Given the description of an element on the screen output the (x, y) to click on. 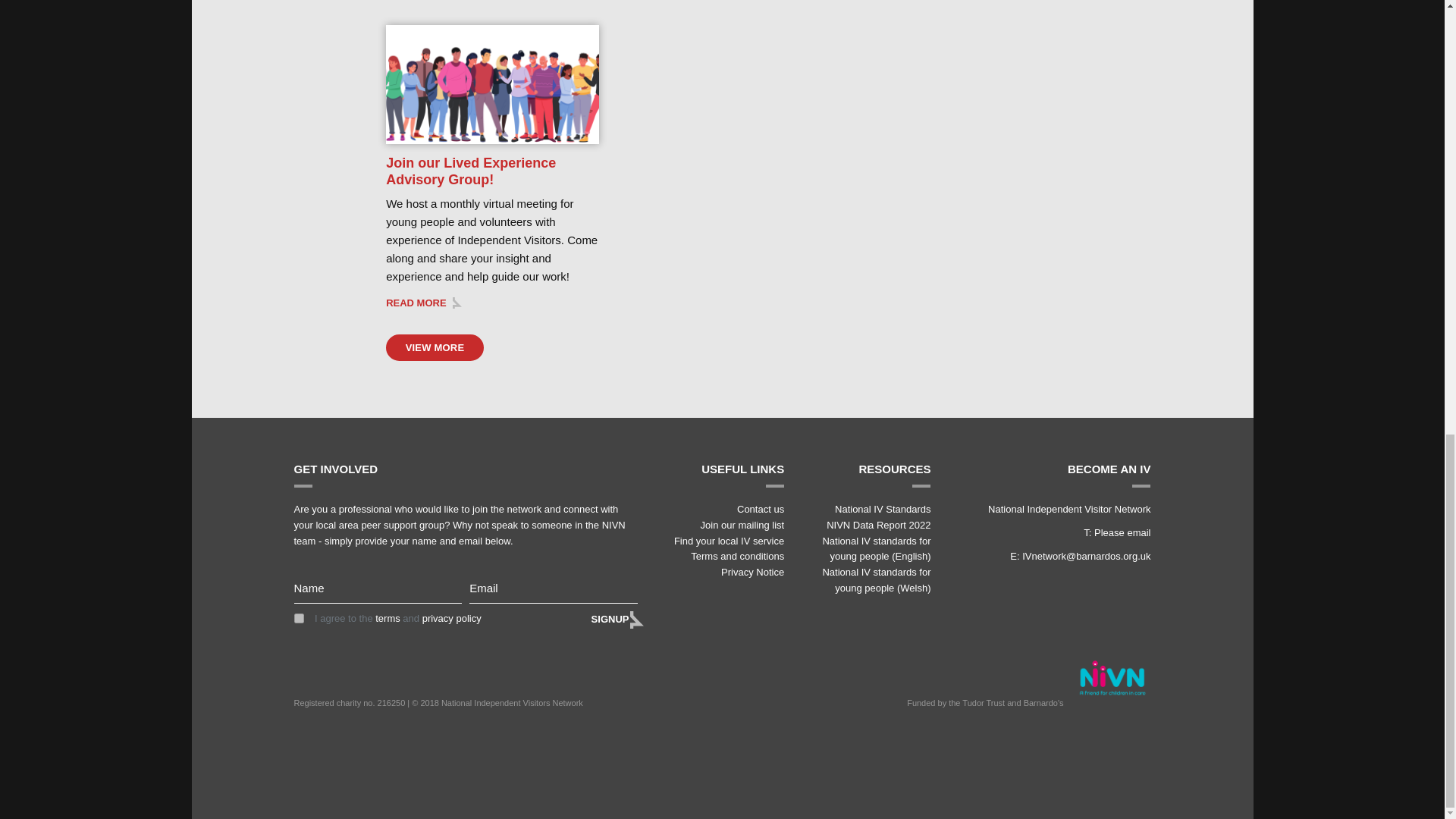
READ MORE (423, 302)
Join our Lived Experience Advisory Group! (470, 171)
yes (299, 618)
VIEW MORE (434, 347)
